Given the description of an element on the screen output the (x, y) to click on. 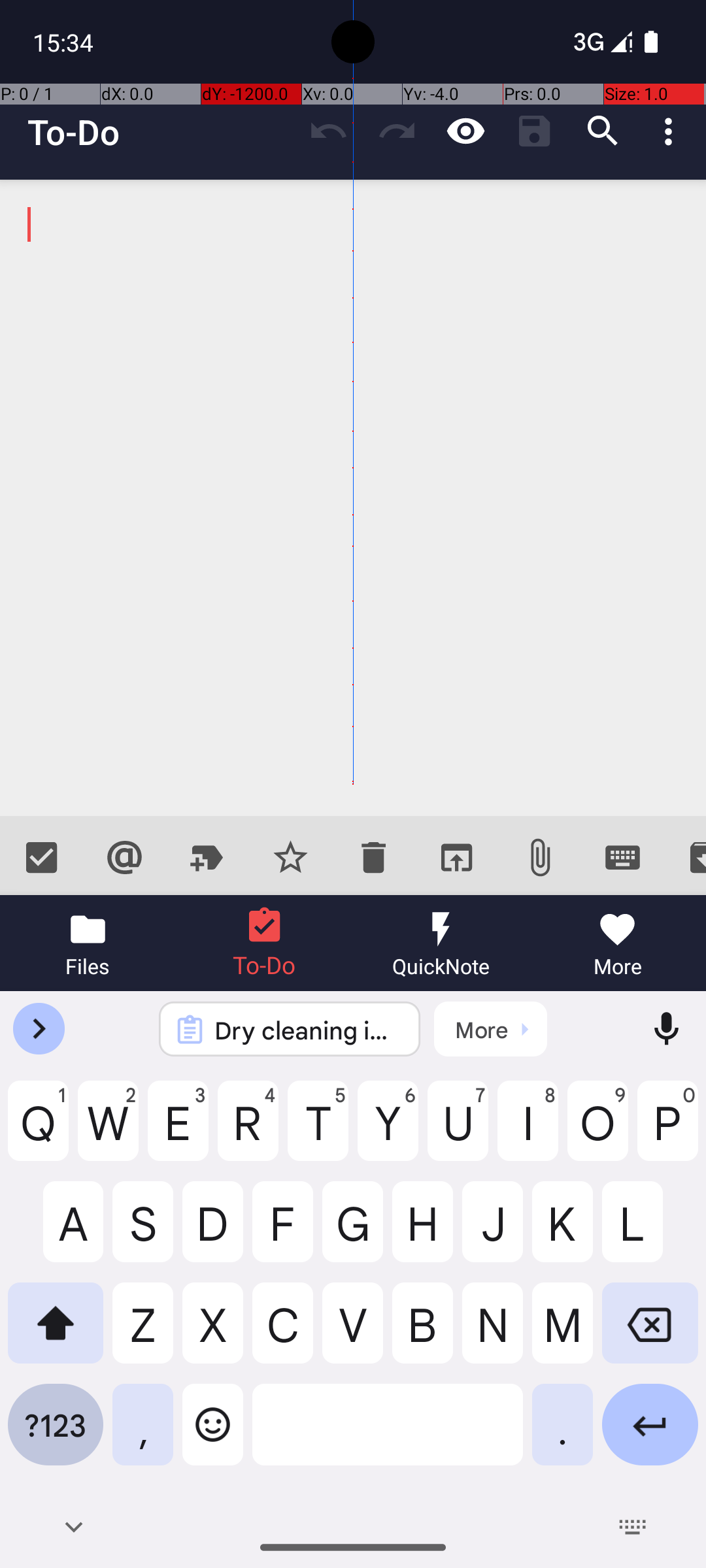
Dry cleaning is ready for pick-up. Element type: android.widget.TextView (306, 1029)
